Given the description of an element on the screen output the (x, y) to click on. 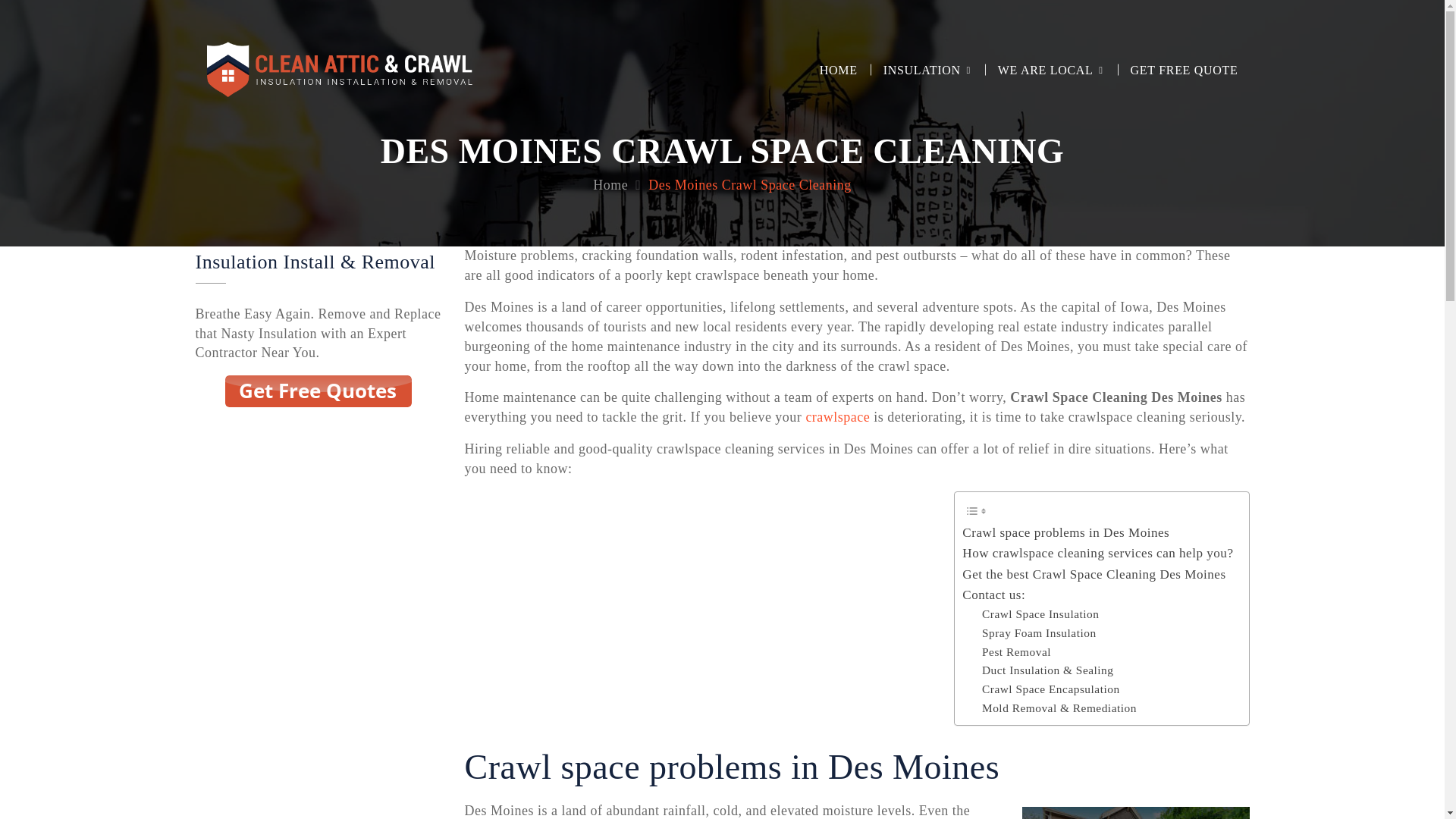
WE ARE LOCAL (1045, 69)
Spray Foam Insulation (1038, 633)
INSULATION (922, 69)
Home (609, 185)
Pest Removal (1016, 651)
Get the best Crawl Space Cleaning Des Moines (1093, 574)
How crawlspace cleaning services can help you? (1097, 552)
Contact us: (993, 594)
HOME (838, 69)
Crawl Space Insulation (1040, 614)
Crawl Space Encapsulation (1050, 689)
Crawl space problems in Des Moines (1065, 532)
Des Moines Crawl Space Cleaning (748, 184)
